Given the description of an element on the screen output the (x, y) to click on. 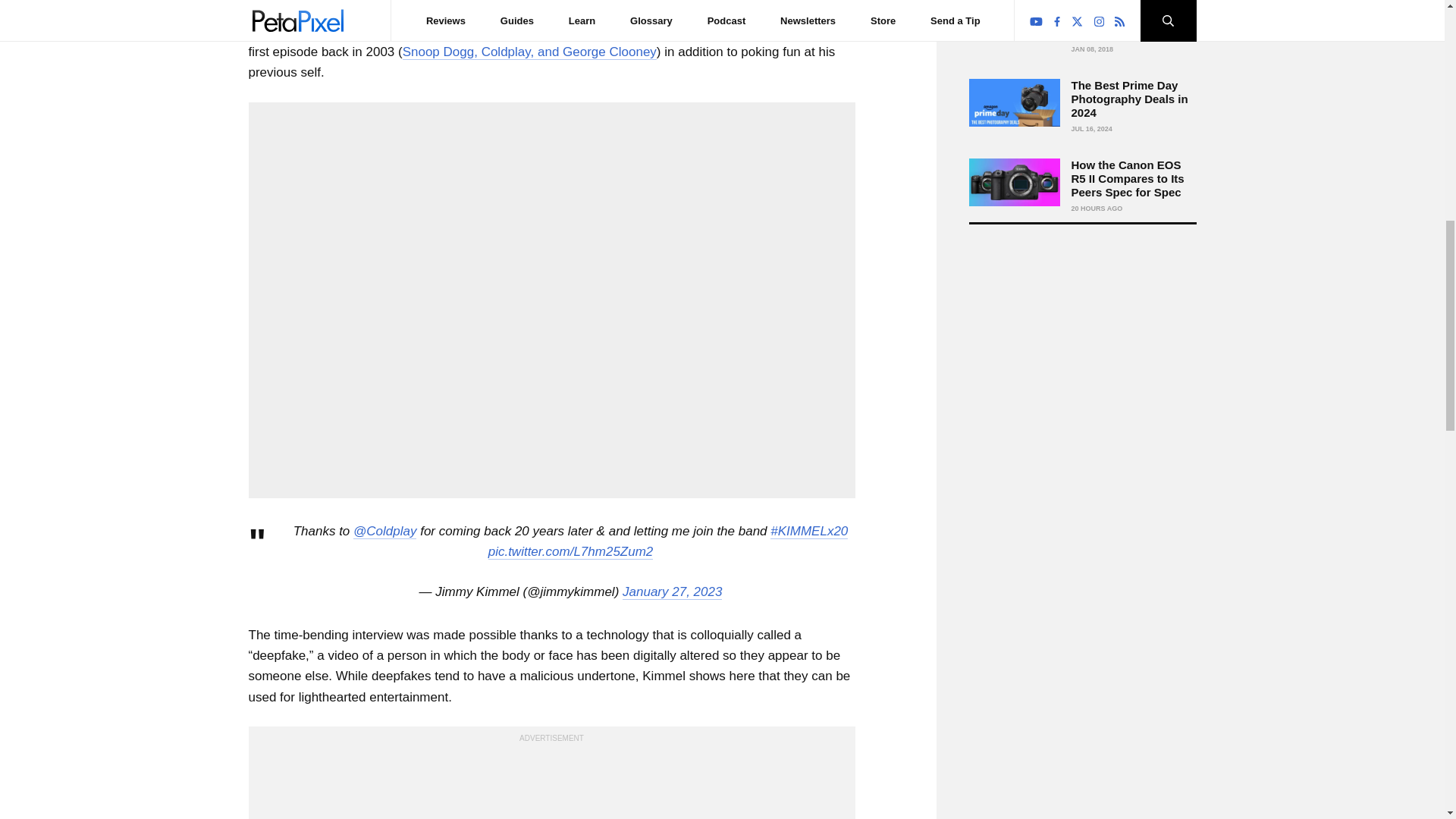
Snoop Dogg, Coldplay, and George Clooney (529, 52)
January 27, 2023 (672, 591)
